Given the description of an element on the screen output the (x, y) to click on. 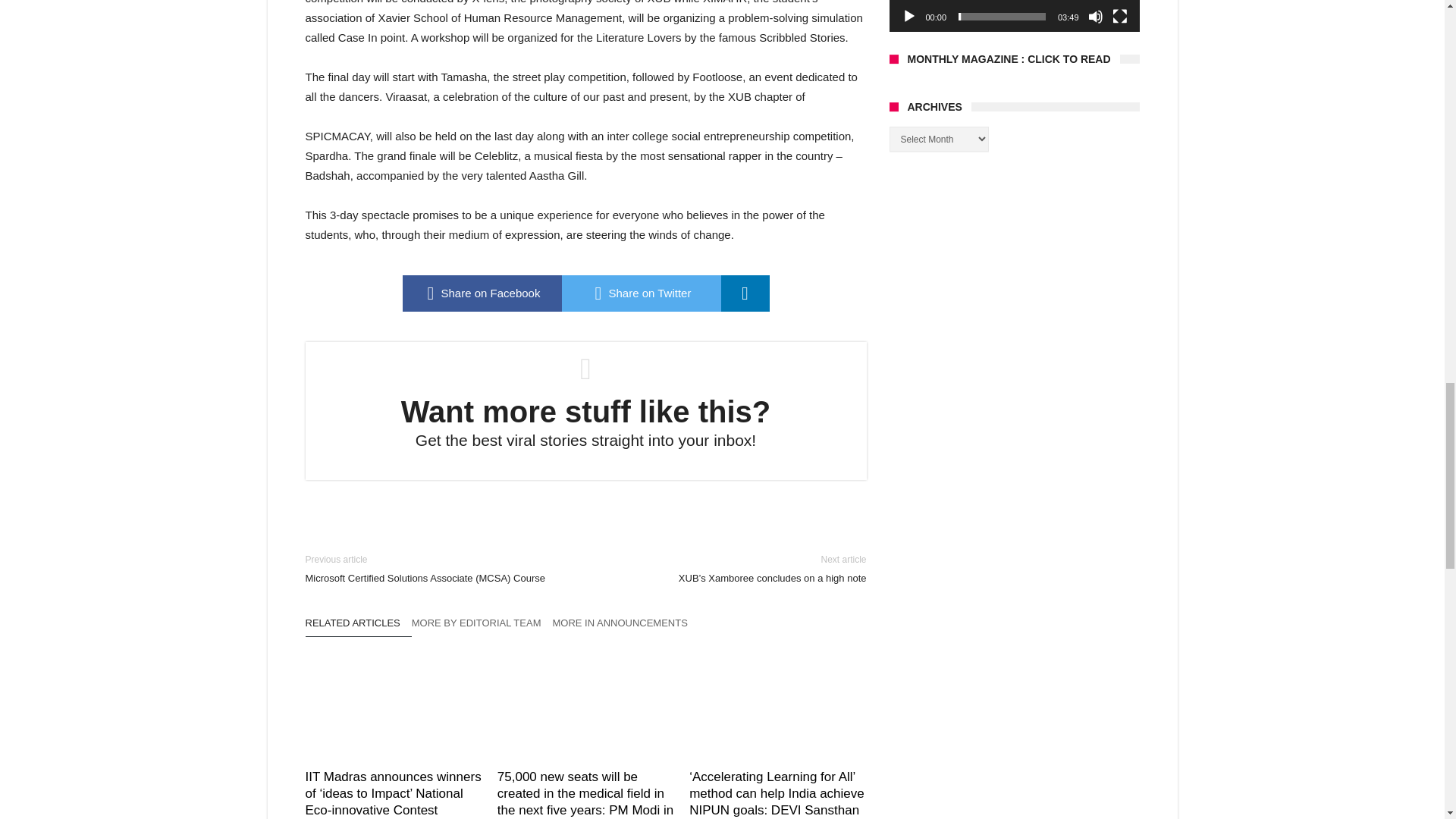
Play (908, 16)
Share on Facebook (480, 293)
Mute (1094, 16)
linkedin (744, 293)
facebook (480, 293)
Share on Linkedin (744, 293)
Share on Twitter (640, 293)
twitter (640, 293)
